Given the description of an element on the screen output the (x, y) to click on. 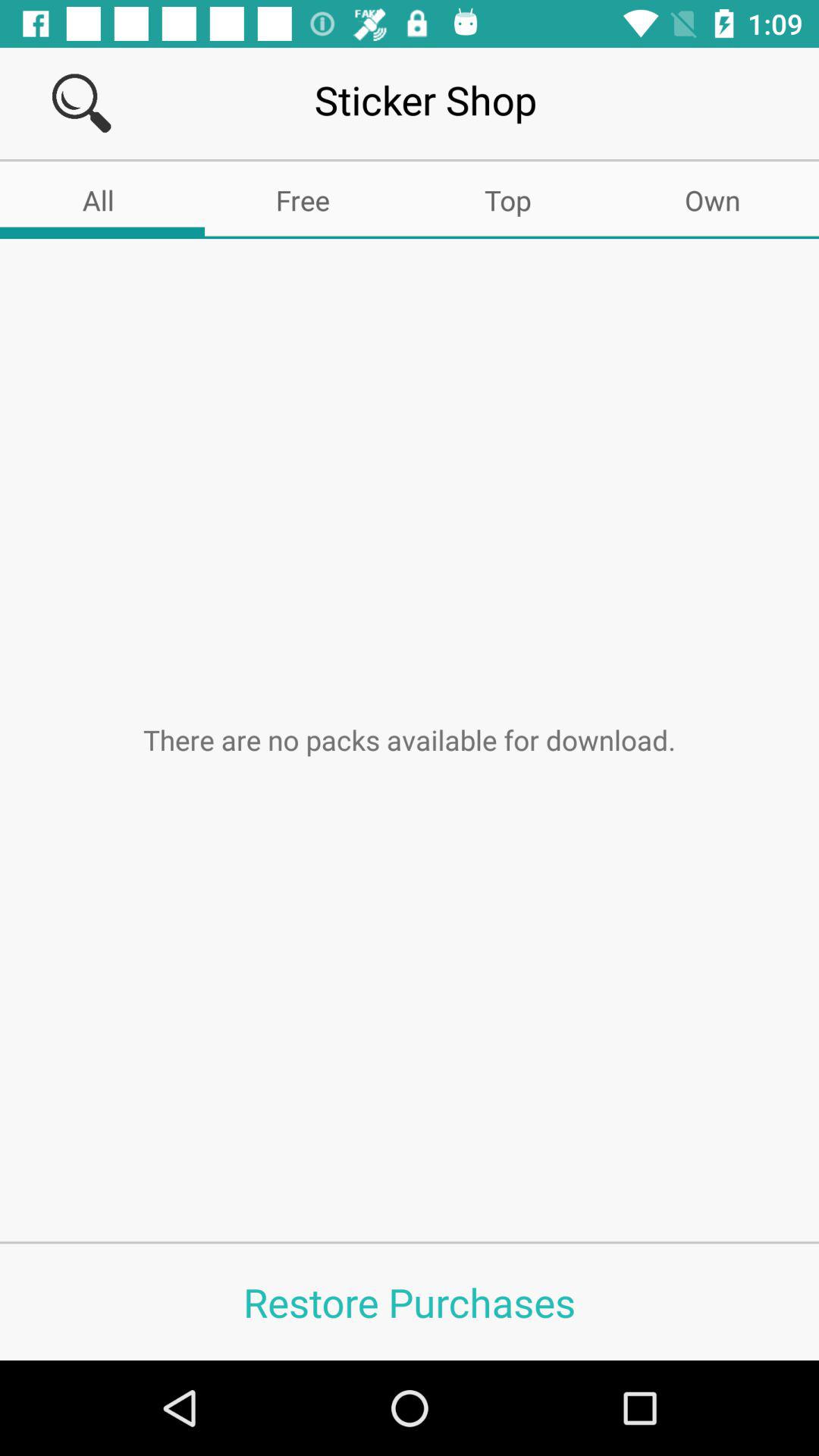
click to search (81, 103)
